Given the description of an element on the screen output the (x, y) to click on. 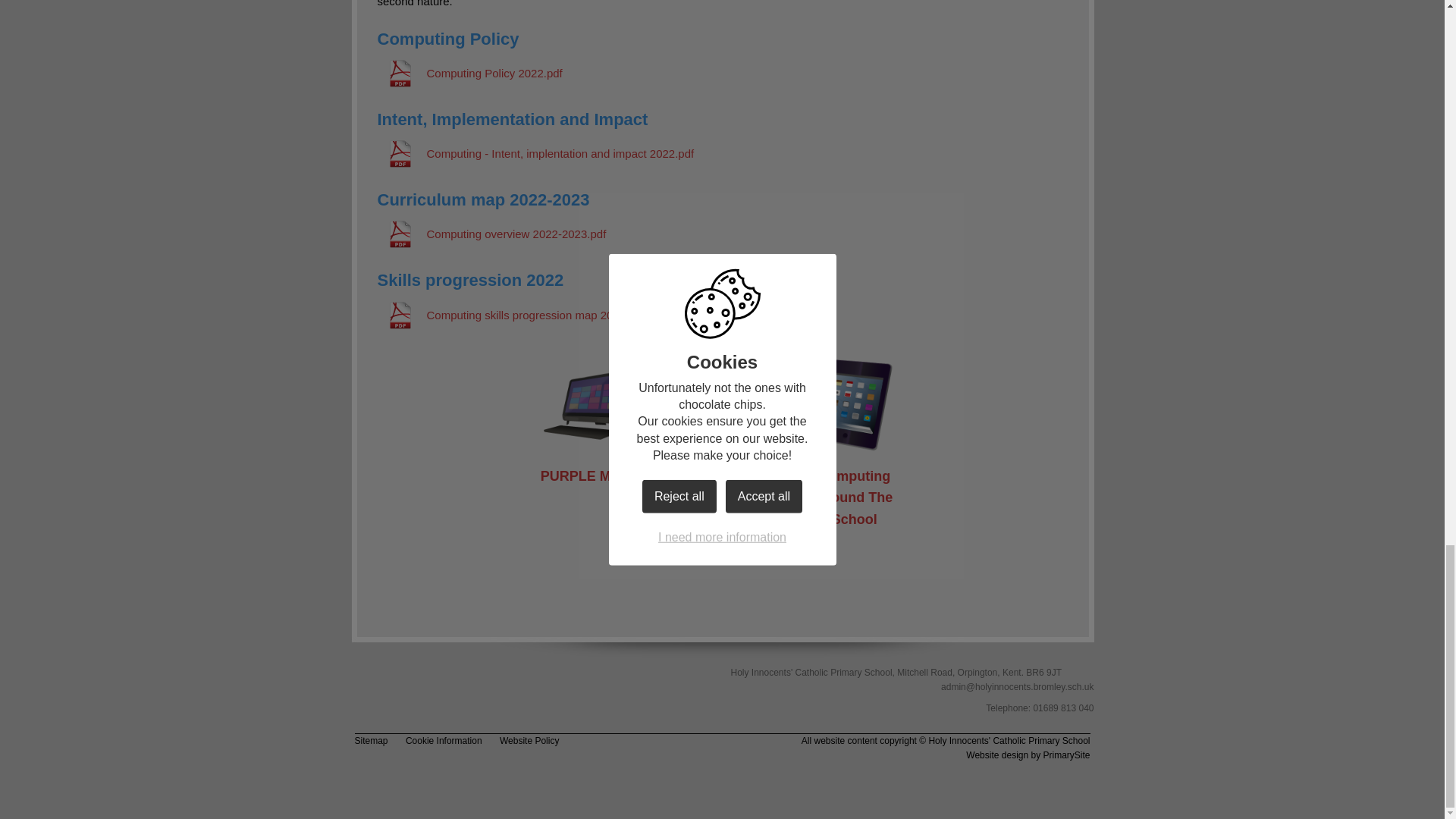
Computing - Intent, implentation and impact 2022.pdf (535, 153)
Computing overview 2022-2023.pdf (492, 234)
Computing skills progression map 2022.pdf (511, 315)
Computing Policy 2022.pdf (469, 73)
